Given the description of an element on the screen output the (x, y) to click on. 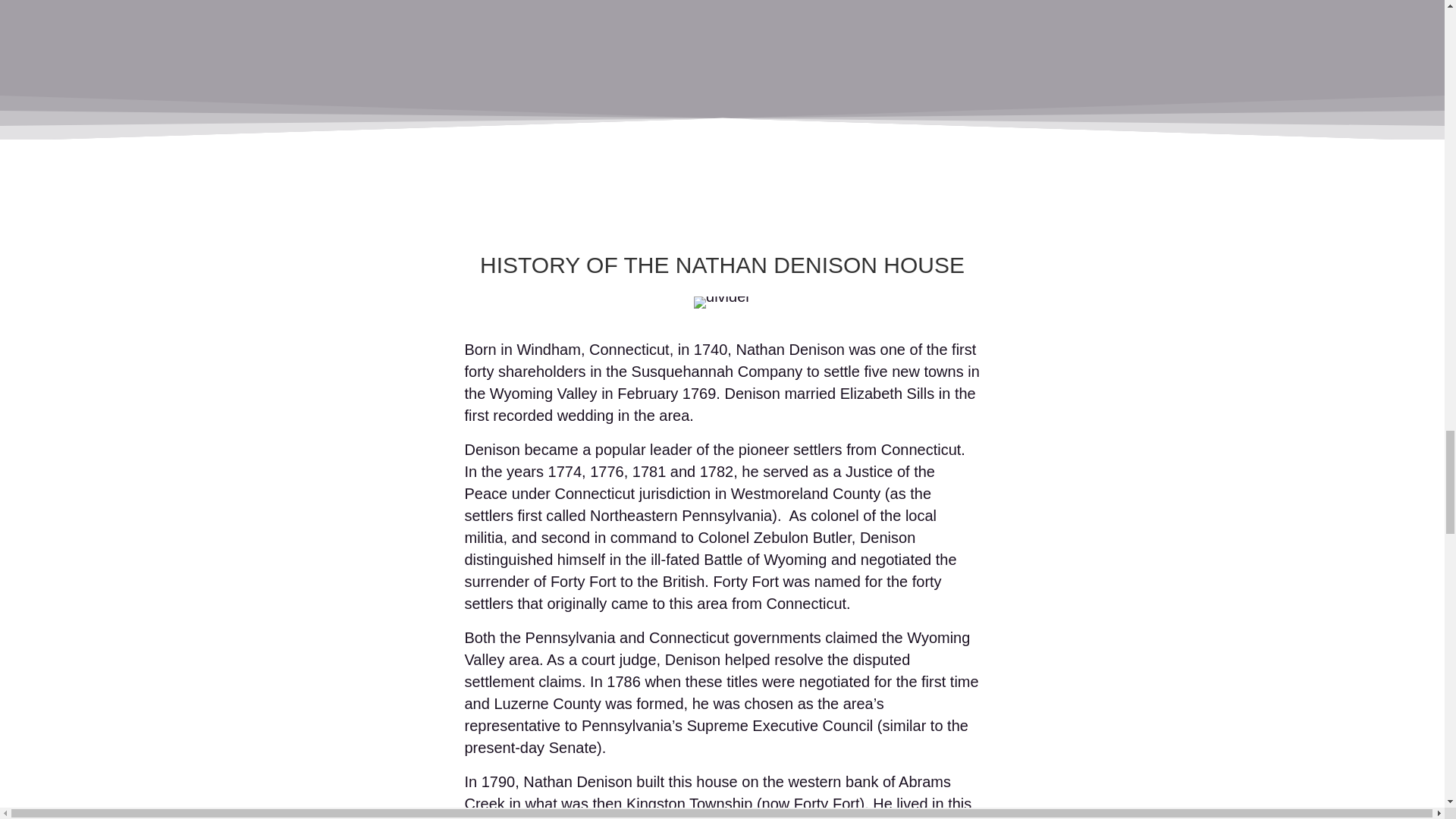
divider (722, 302)
